Given the description of an element on the screen output the (x, y) to click on. 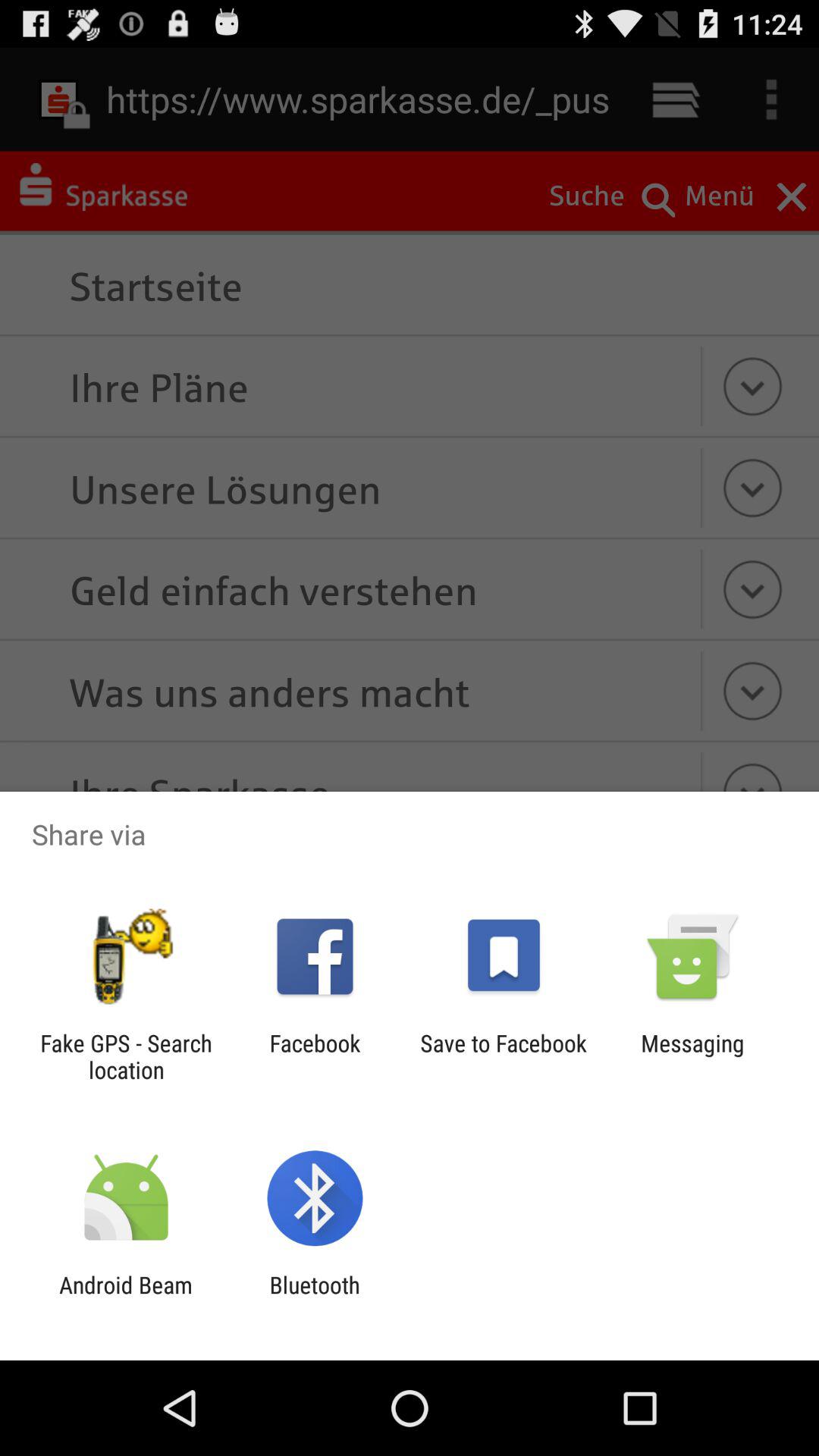
open the item next to bluetooth app (125, 1298)
